Given the description of an element on the screen output the (x, y) to click on. 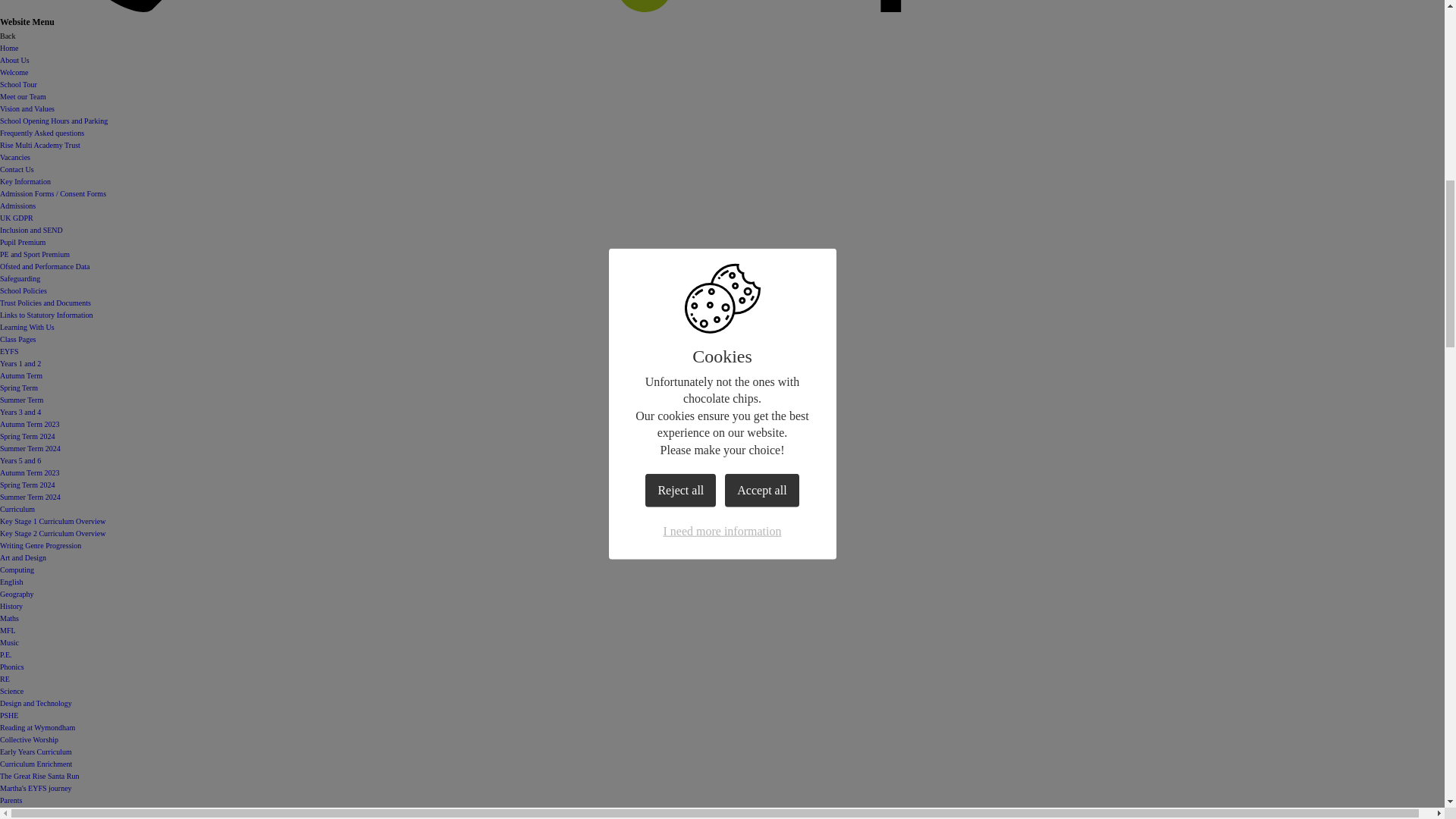
Frequently Asked questions (42, 132)
Welcome (14, 71)
PE and Sport Premium (34, 254)
Home (8, 48)
Key Information (25, 181)
Contact Us (16, 169)
Facebook (906, 8)
Pupil Premium (22, 242)
About Us (14, 60)
Safeguarding (20, 278)
Trust Policies and Documents (45, 302)
Autumn Term (21, 375)
EYFS (8, 351)
Email Us (401, 8)
Meet our Team (23, 96)
